Given the description of an element on the screen output the (x, y) to click on. 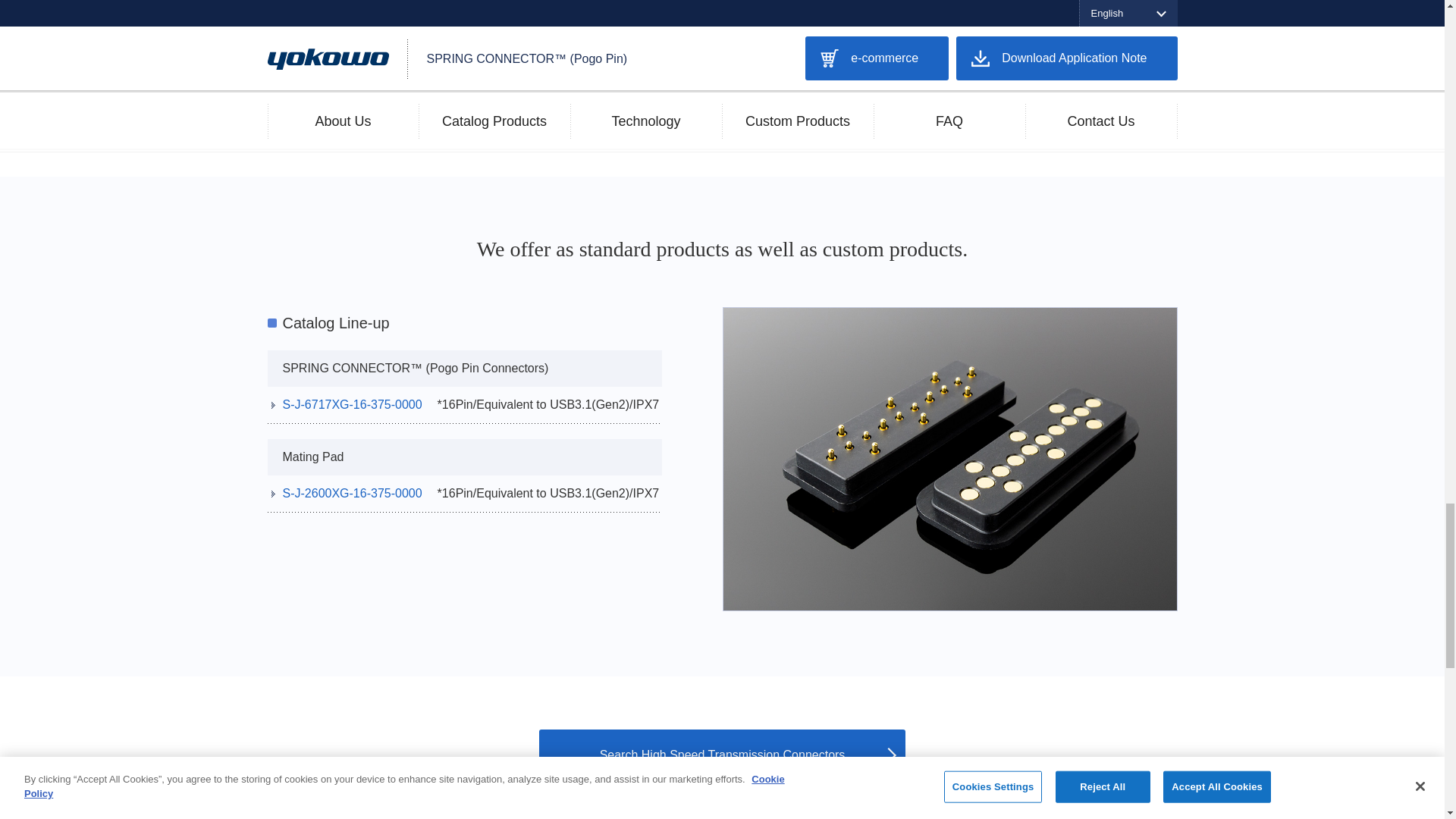
Search High Speed Transmission Connectors (721, 755)
S-J-2600XG-16-375-0000 (351, 493)
S-J-6717XG-16-375-0000 (351, 404)
